Given the description of an element on the screen output the (x, y) to click on. 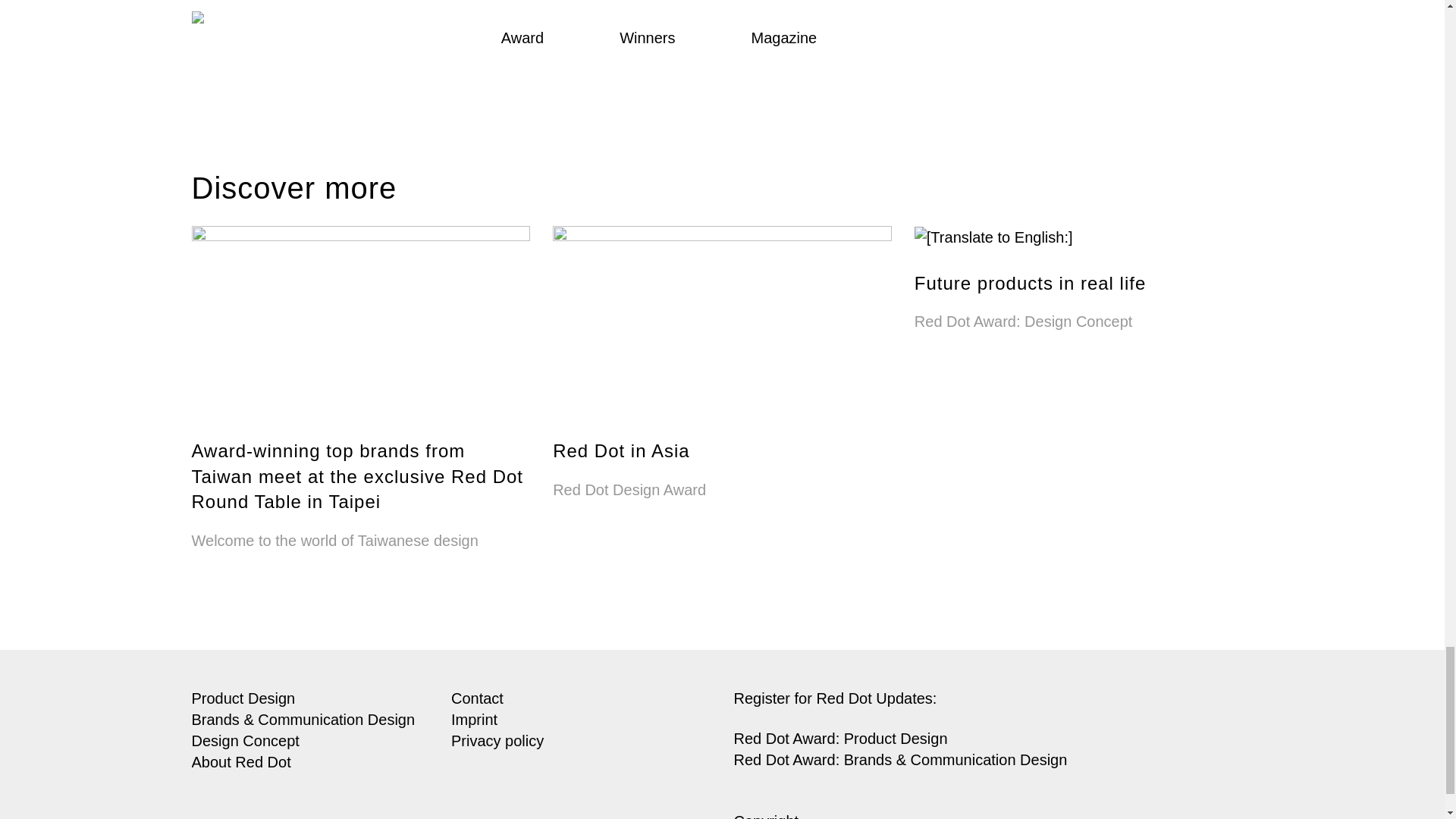
Red Dot in Asia  (722, 374)
Future products in real life  (1083, 289)
Red Dot Award: Product Design (840, 738)
